Given the description of an element on the screen output the (x, y) to click on. 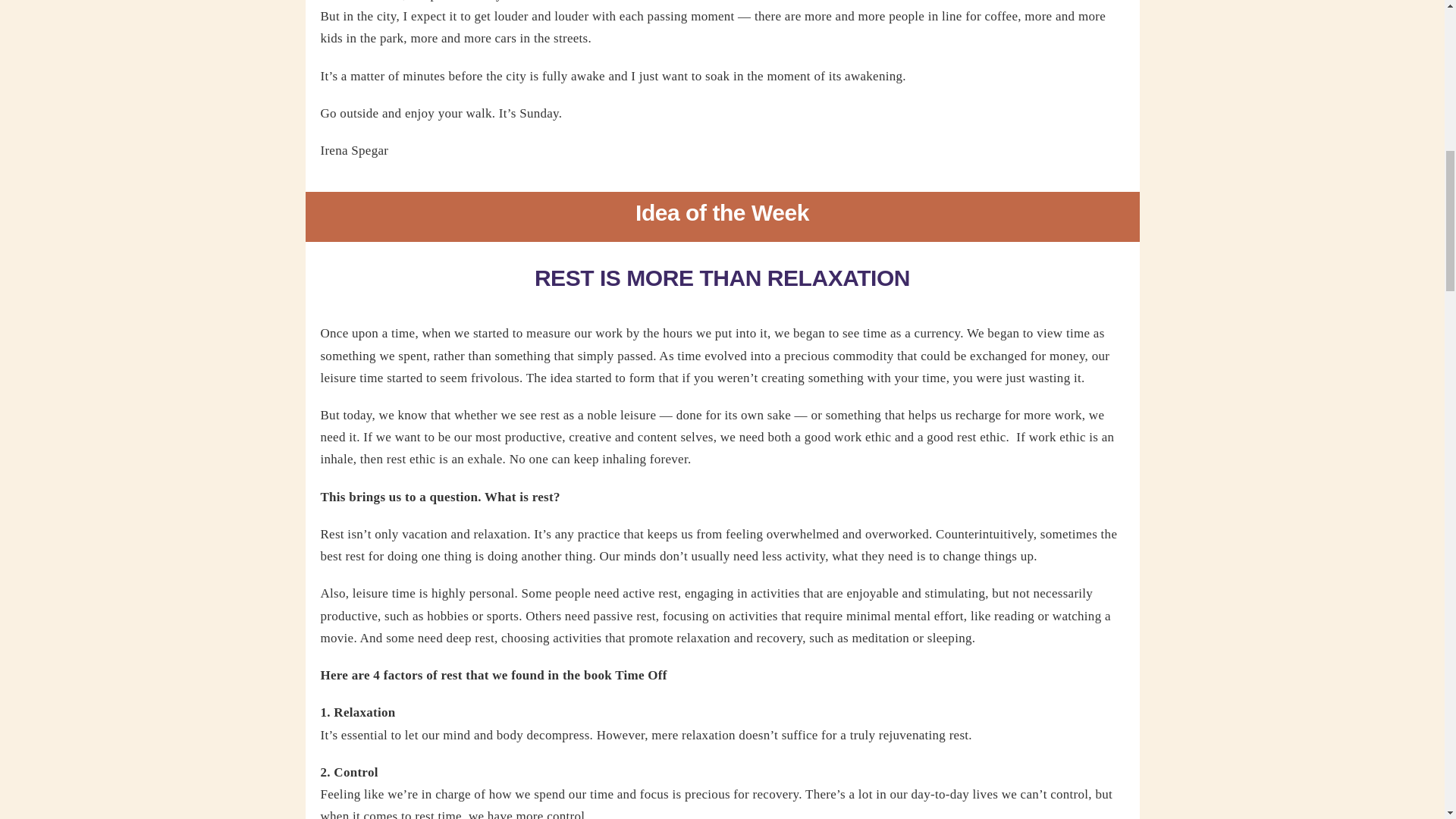
Idea of the Week (721, 216)
